Given the description of an element on the screen output the (x, y) to click on. 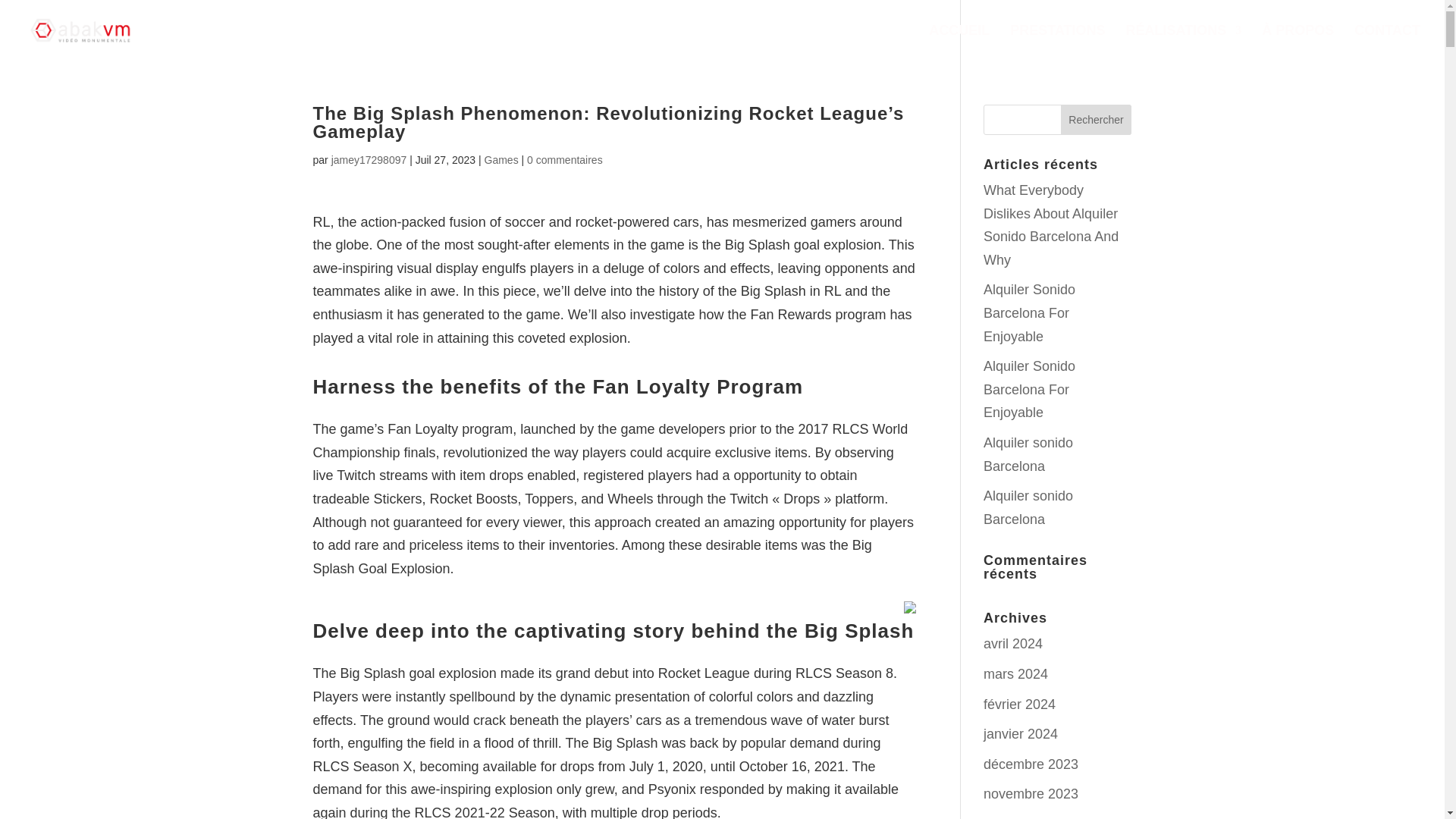
0 commentaires (564, 159)
Alquiler sonido Barcelona (1028, 454)
PRESTATIONS (1057, 42)
CONTACT (1387, 42)
octobre 2023 (1023, 817)
Alquiler Sonido Barcelona For Enjoyable (1029, 389)
ACCUEIL (959, 42)
Articles de jamey17298097 (369, 159)
avril 2024 (1013, 643)
janvier 2024 (1021, 734)
Rechercher (1096, 119)
novembre 2023 (1031, 793)
Alquiler Sonido Barcelona For Enjoyable (1029, 312)
mars 2024 (1016, 673)
